Given the description of an element on the screen output the (x, y) to click on. 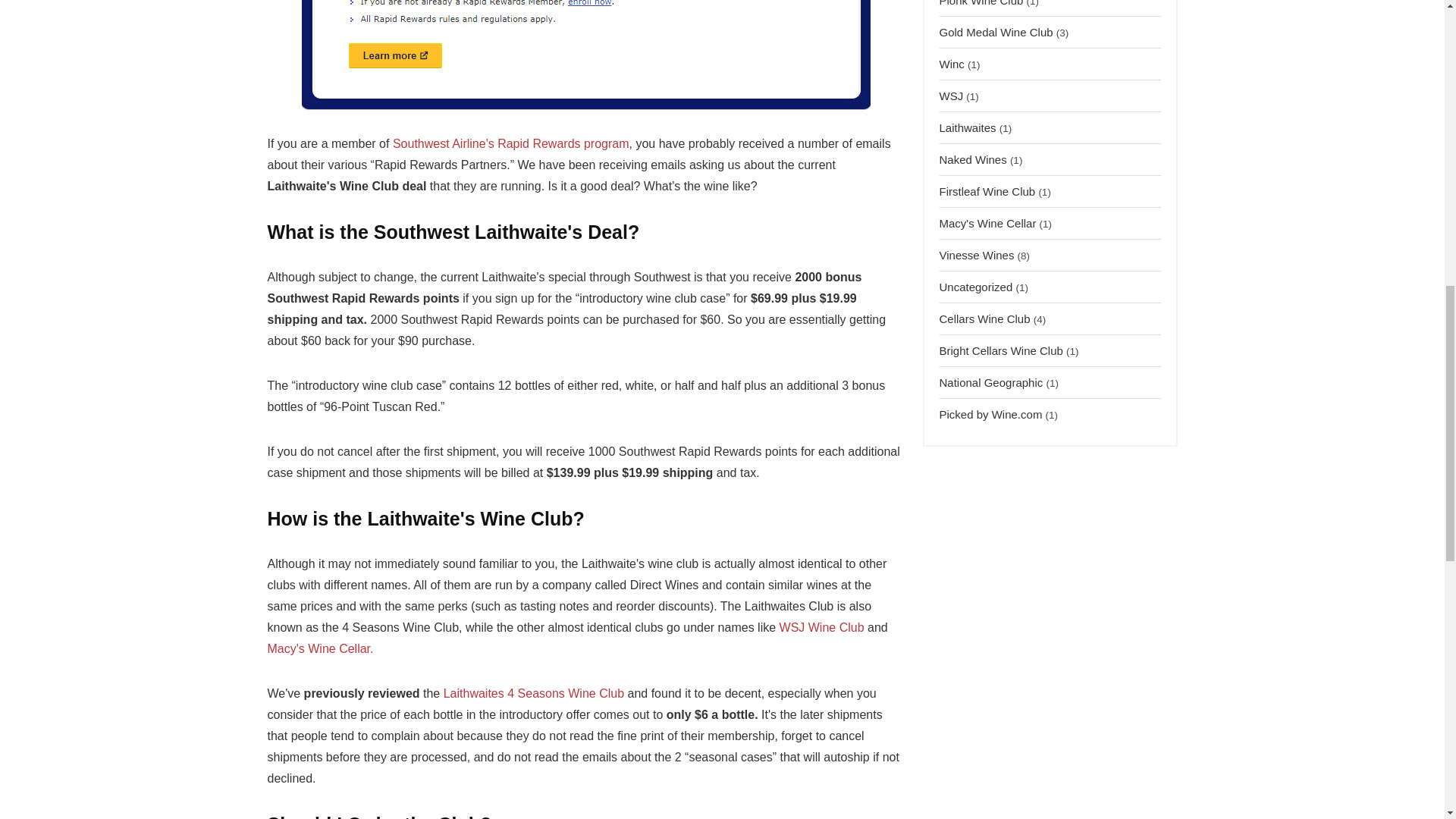
Southwest Airline's Rapid Rewards program (510, 142)
WSJ Wine Club (821, 626)
Laithwaites 4 Seasons Wine Club (534, 693)
Macy's Wine Cellar. (319, 647)
